Given the description of an element on the screen output the (x, y) to click on. 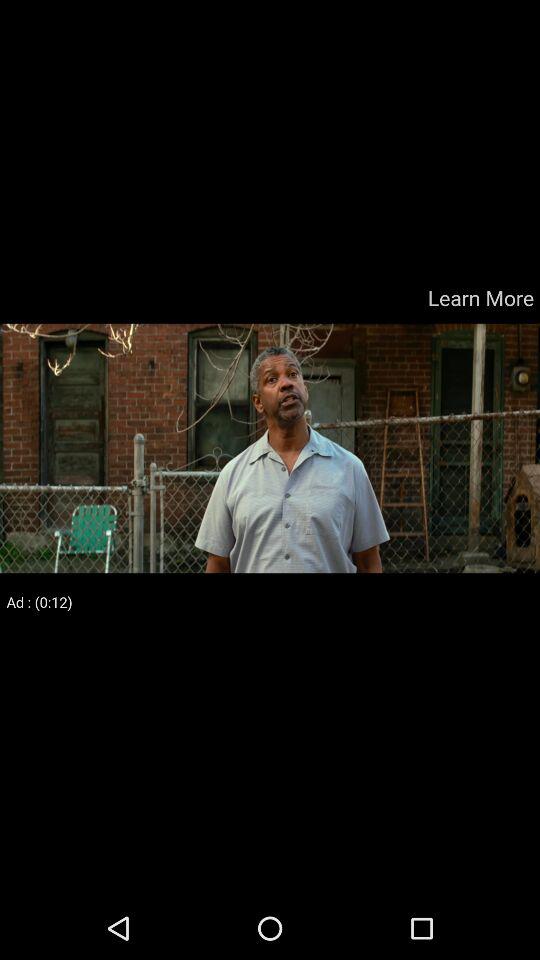
color print (270, 448)
